Given the description of an element on the screen output the (x, y) to click on. 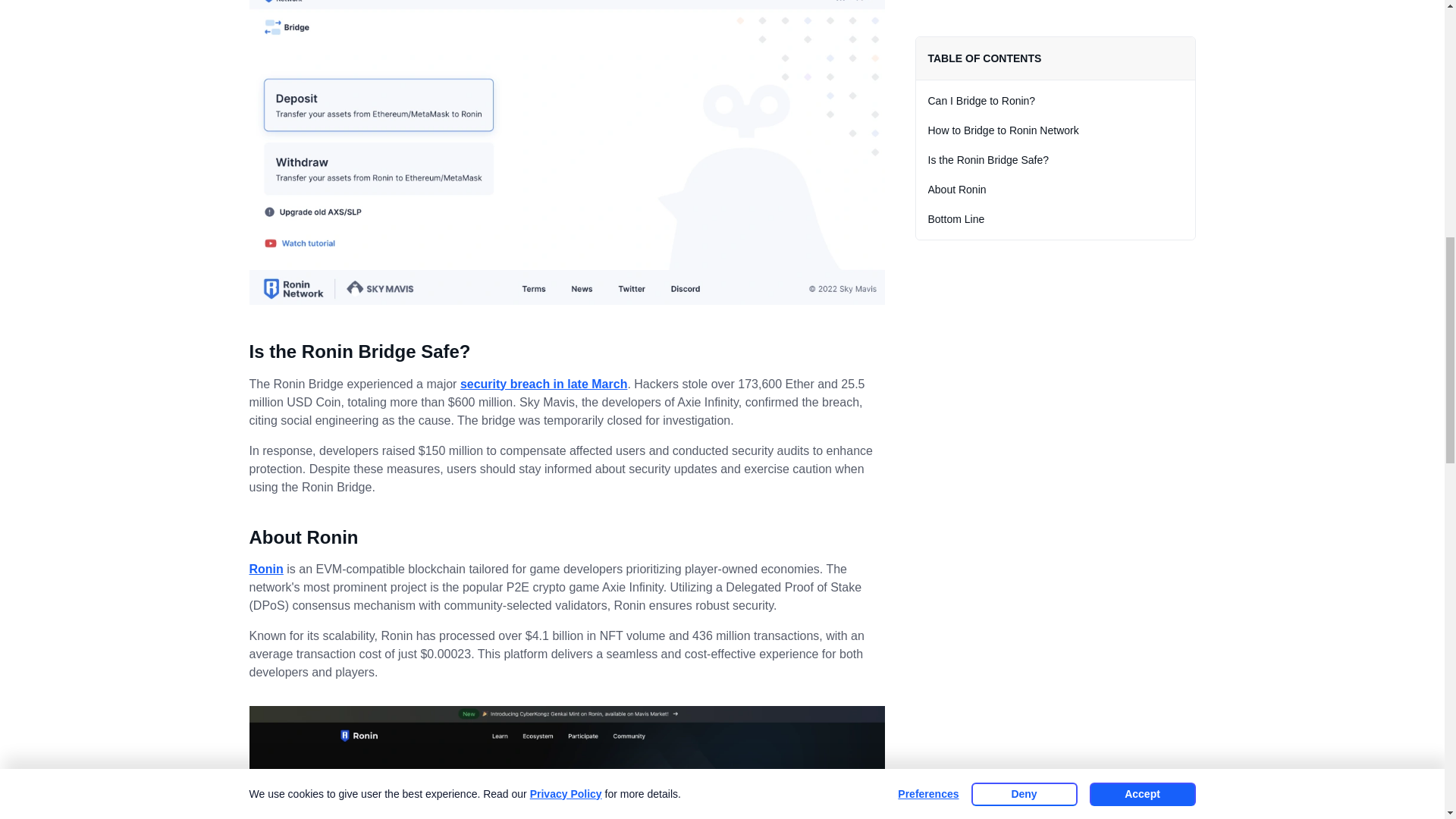
Ronin (265, 568)
security breach in late March (543, 383)
